Given the description of an element on the screen output the (x, y) to click on. 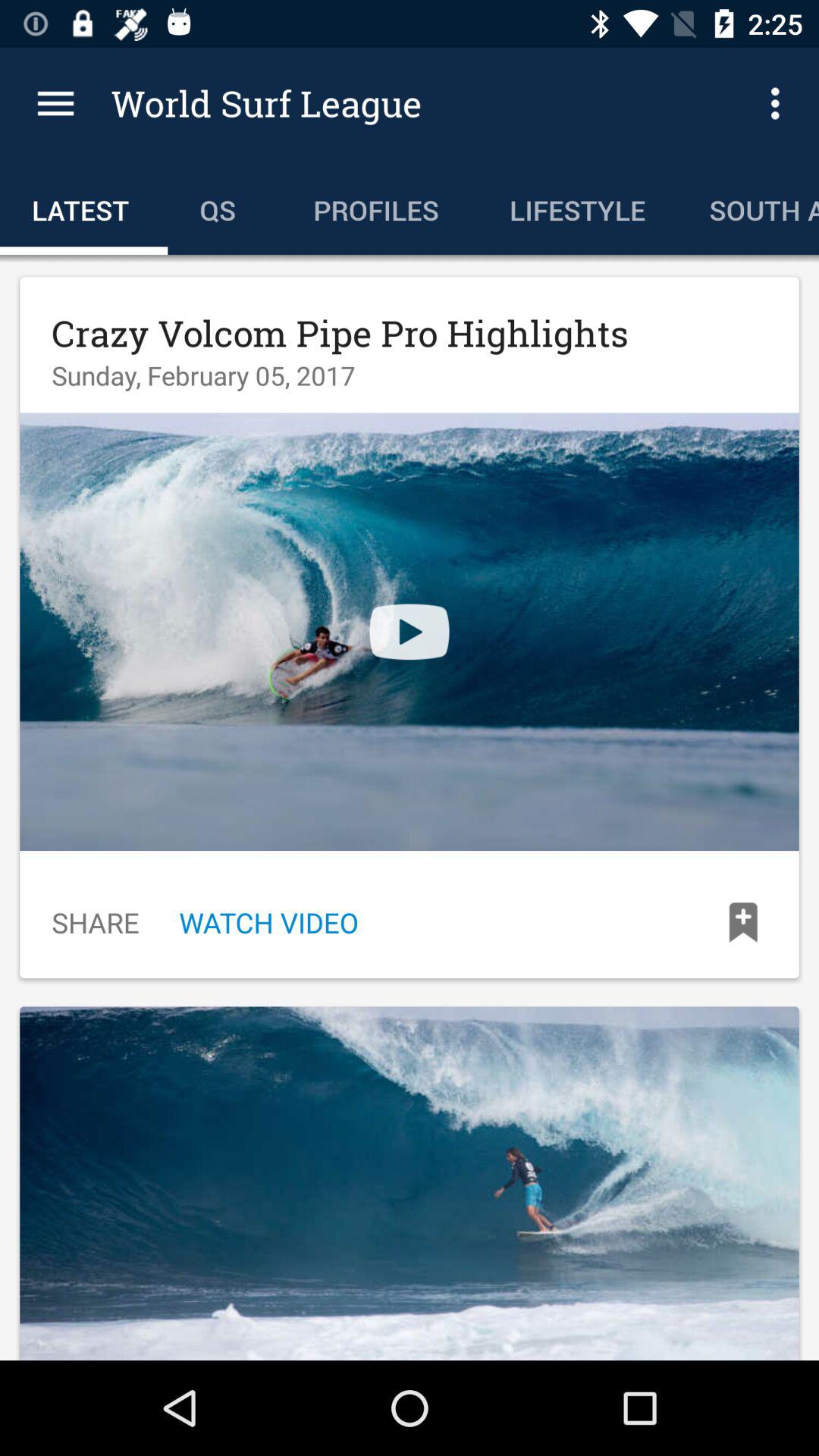
select icon to the left of the watch video item (95, 922)
